Given the description of an element on the screen output the (x, y) to click on. 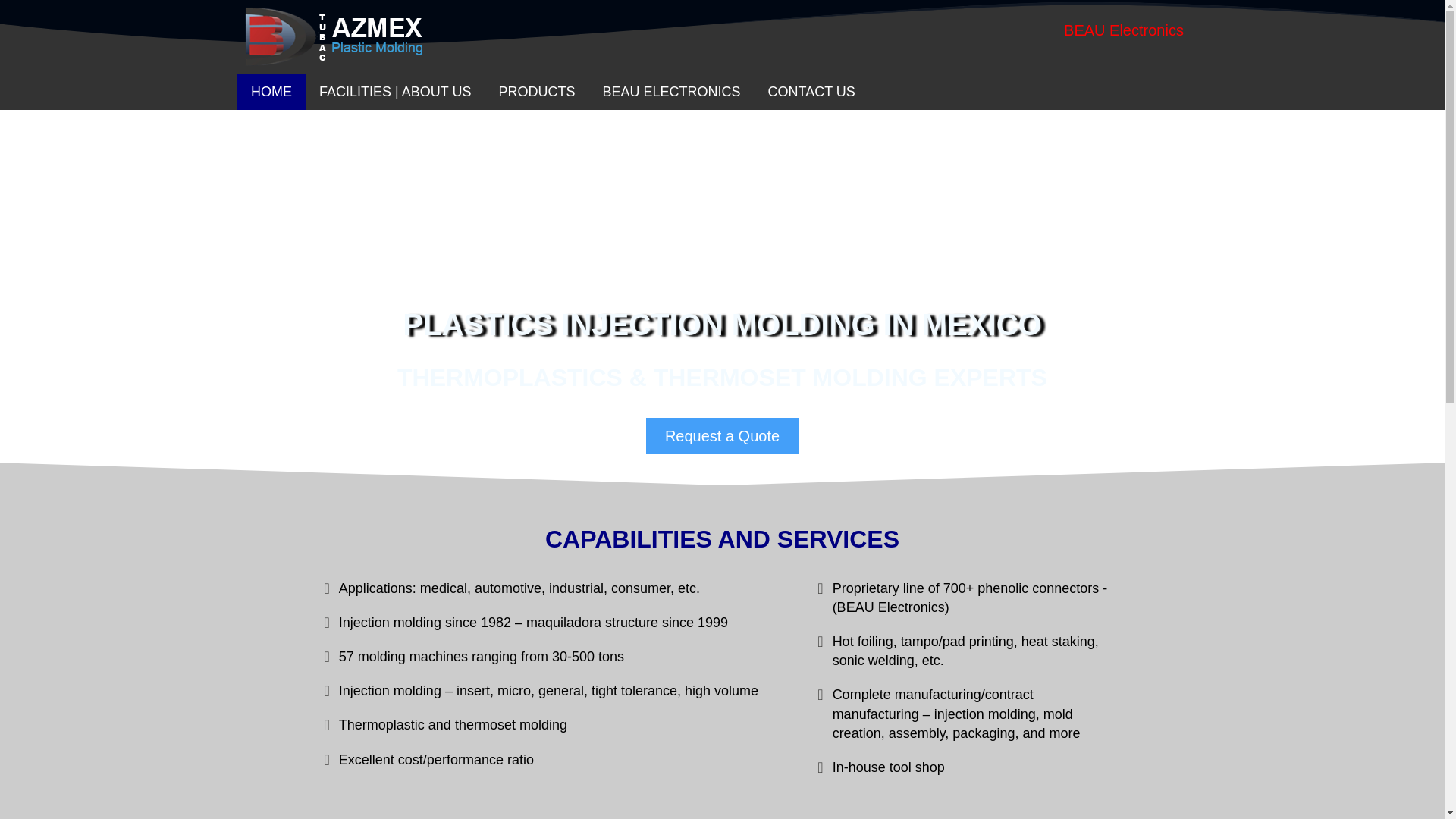
CONTACT US (810, 91)
BEAU ELECTRONICS (671, 91)
HOME (271, 91)
Request a Quote (721, 435)
PRODUCTS (536, 91)
BEAU Electronics (1122, 30)
